Given the description of an element on the screen output the (x, y) to click on. 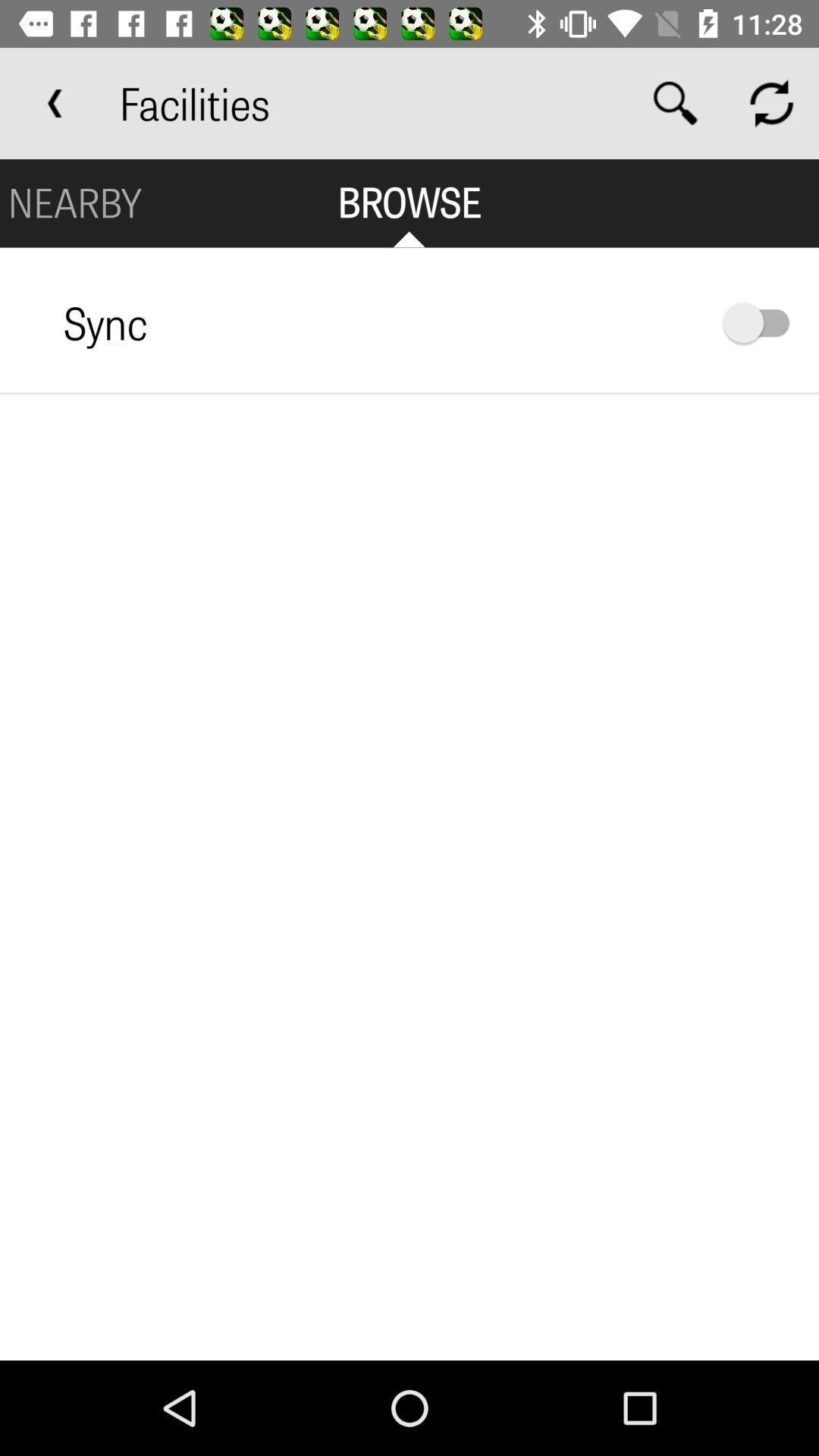
turn sync on (763, 322)
